Given the description of an element on the screen output the (x, y) to click on. 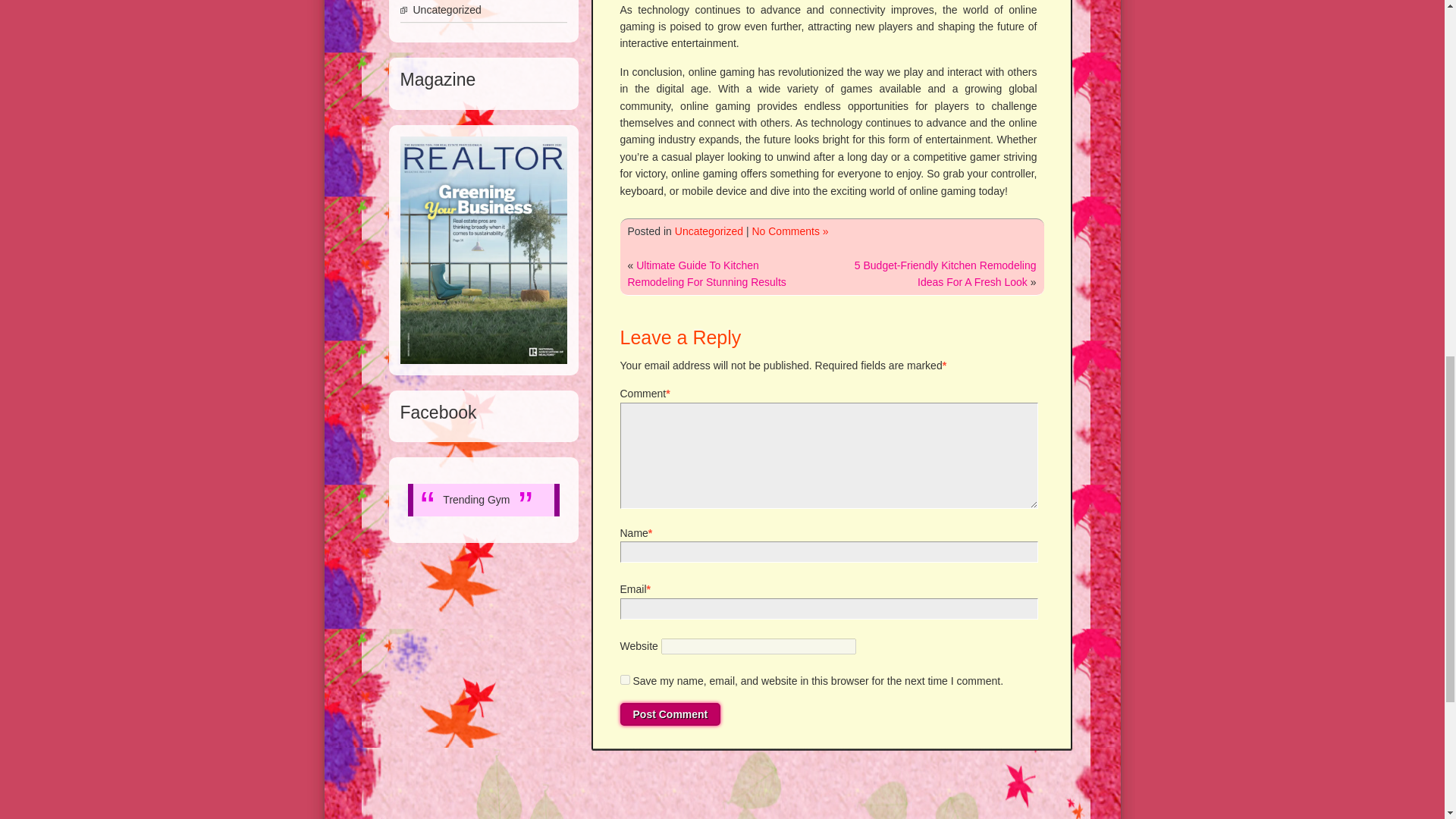
yes (625, 679)
Ultimate Guide To Kitchen Remodeling For Stunning Results (706, 273)
Uncategorized (446, 9)
Trending Gym (475, 499)
Post Comment (670, 713)
5 Budget-Friendly Kitchen Remodeling Ideas For A Fresh Look (945, 273)
Uncategorized (708, 231)
Post Comment (670, 713)
